Given the description of an element on the screen output the (x, y) to click on. 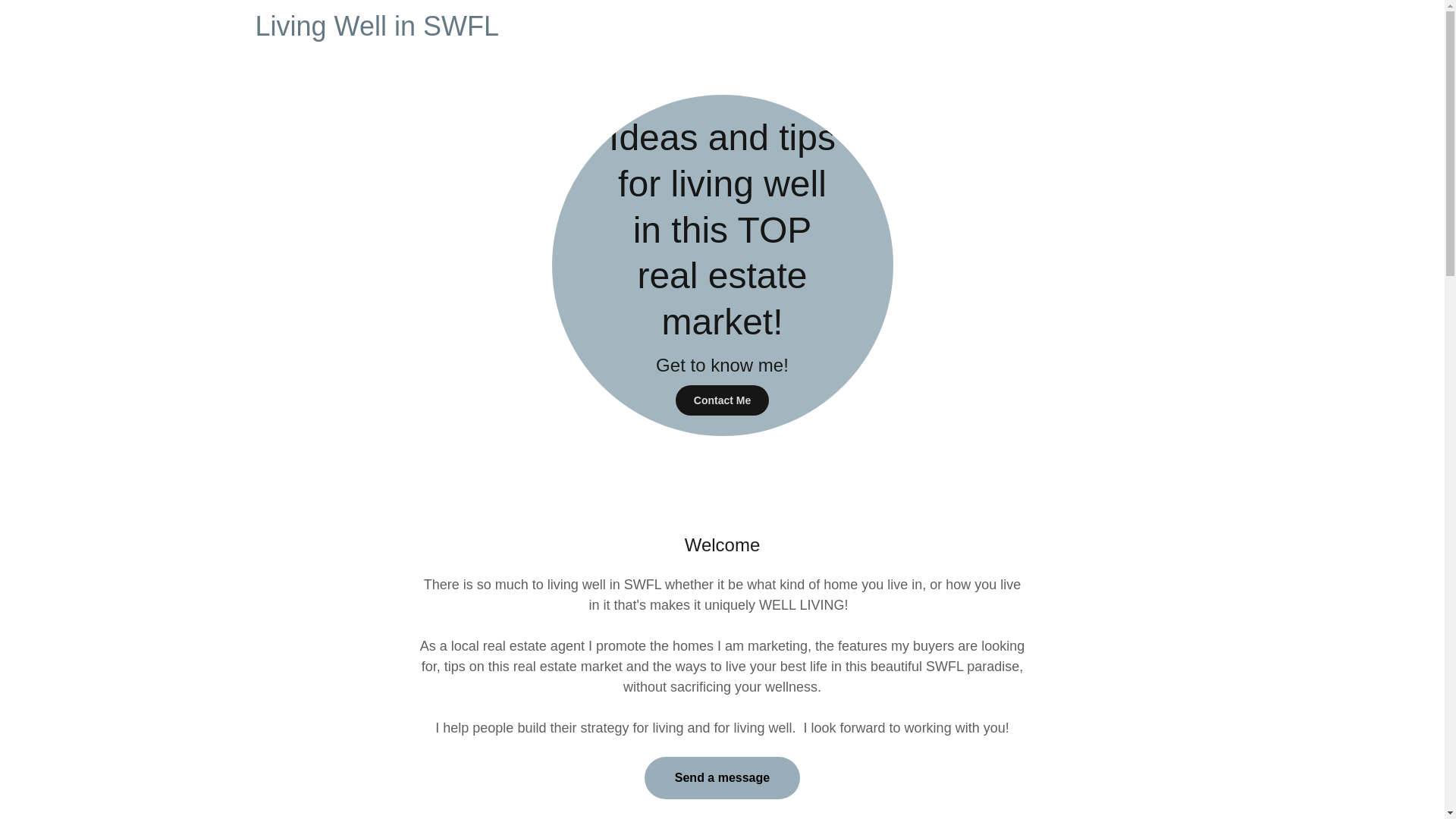
Living Well in SWFL (488, 30)
Living Well in SWFL (488, 30)
Contact Me (721, 399)
Send a message (722, 777)
